Given the description of an element on the screen output the (x, y) to click on. 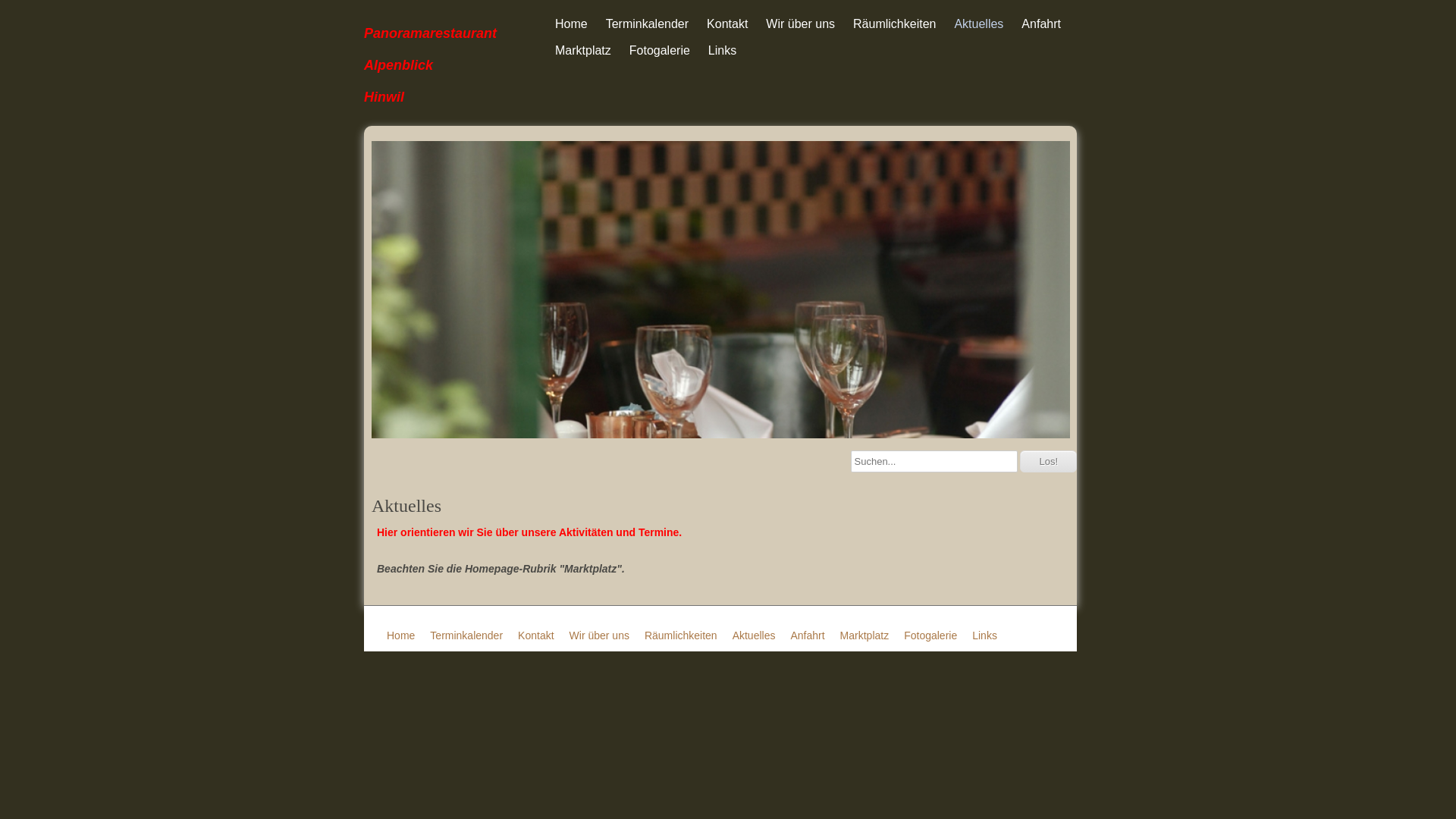
Fotogalerie Element type: text (930, 635)
Home Element type: text (571, 23)
Anfahrt Element type: text (807, 635)
Links Element type: text (984, 635)
Home Element type: text (400, 635)
Anfahrt Element type: text (1040, 23)
Aktuelles Element type: text (978, 23)
Marktplatz Element type: text (864, 635)
Fotogalerie Element type: text (659, 50)
Aktuelles Element type: text (753, 635)
Kontakt Element type: text (535, 635)
Terminkalender Element type: text (465, 635)
Los! Element type: text (1047, 461)
Marktplatz Element type: text (582, 50)
Terminkalender Element type: text (647, 23)
Panoramarestaurant Alpenblick
Hinwil Element type: text (447, 62)
Kontakt Element type: text (727, 23)
Links Element type: text (721, 50)
